Given the description of an element on the screen output the (x, y) to click on. 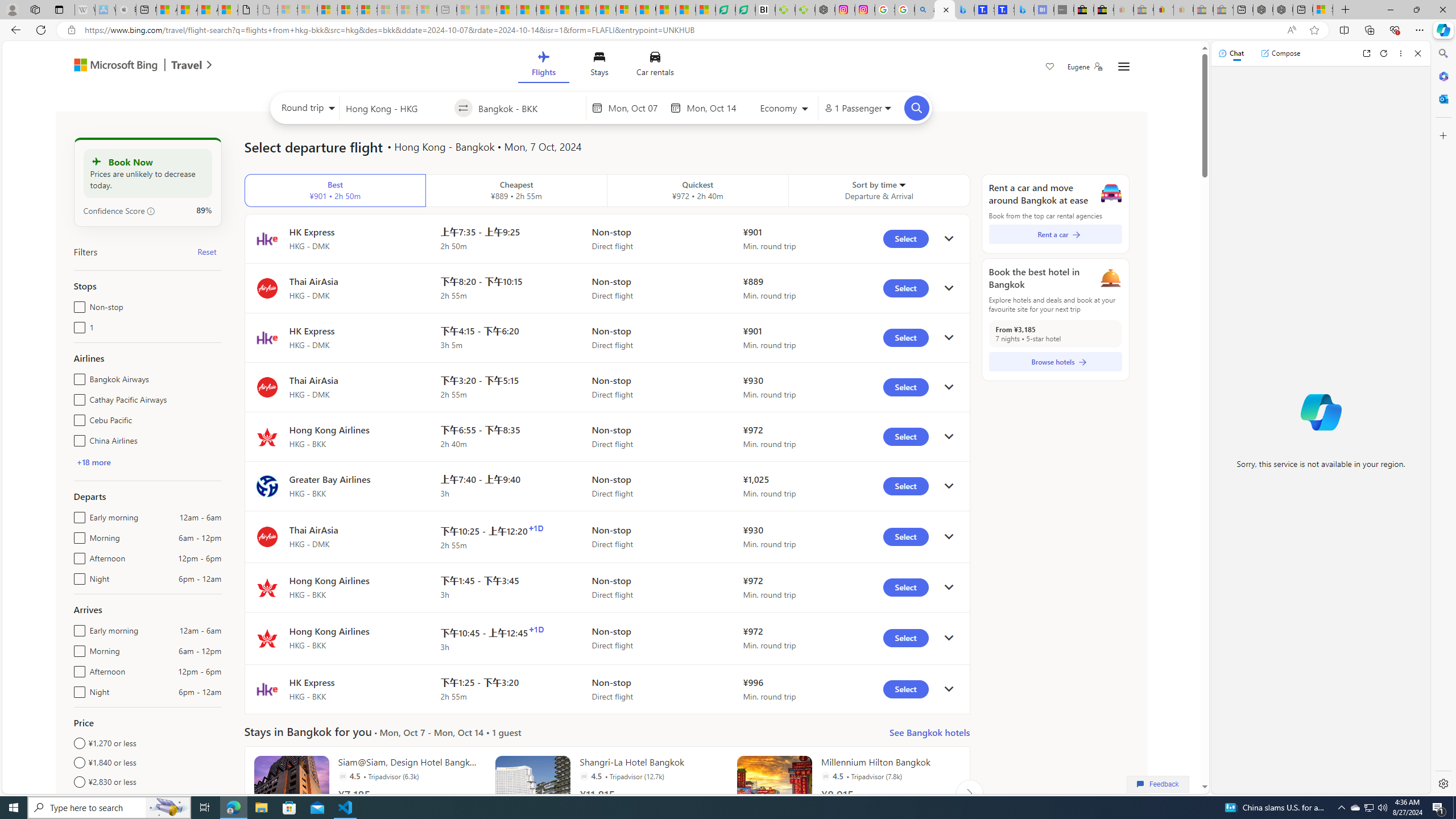
Microsoft Bing Travel - Shangri-La Hotel Bangkok (1024, 9)
click to get details (948, 688)
Travel (186, 65)
